Given the description of an element on the screen output the (x, y) to click on. 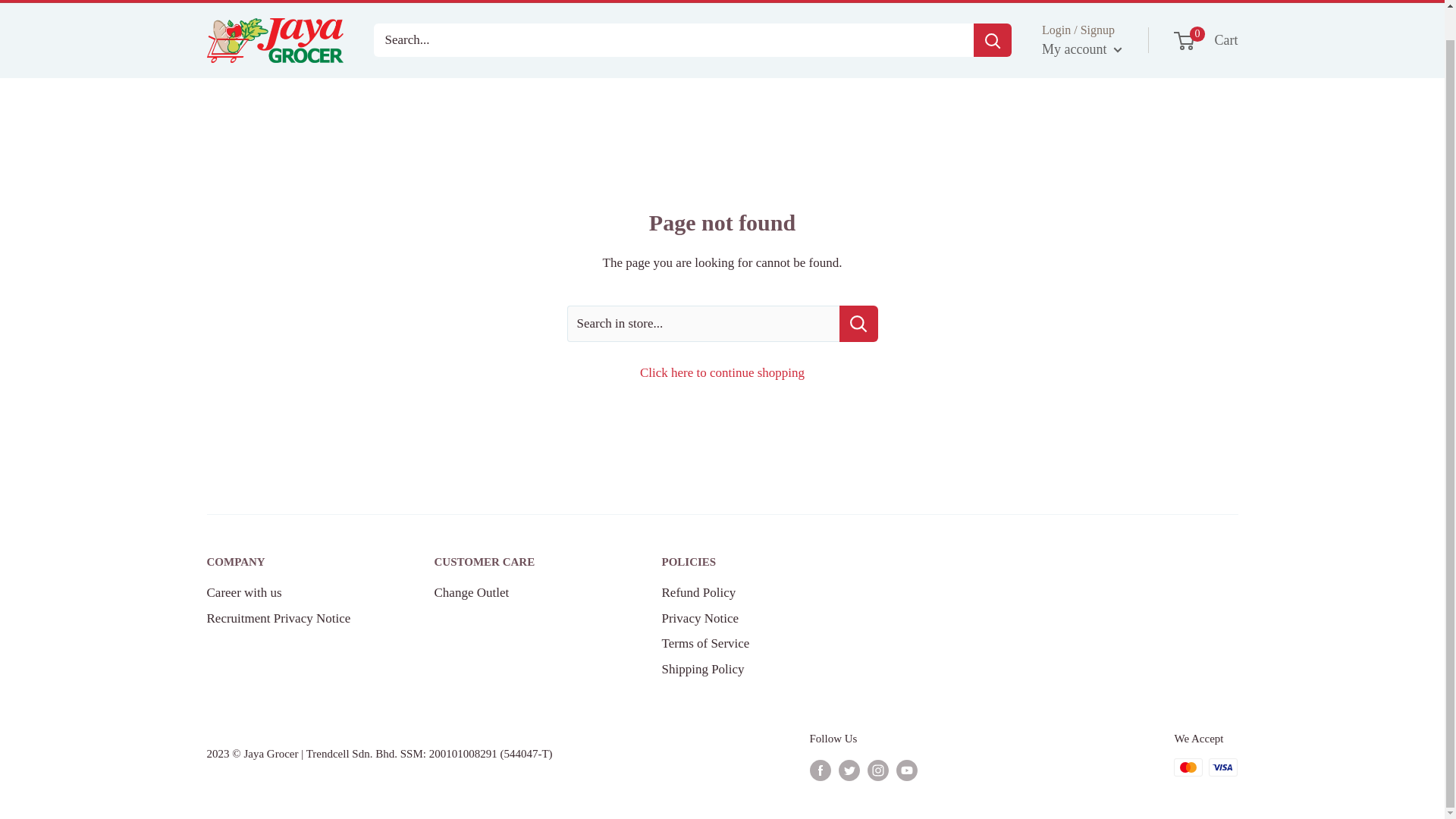
CUSTOMER CARE (520, 562)
COMPANY (293, 562)
Privacy Notice (748, 618)
My account (1082, 49)
Change Outlet (520, 592)
Terms of Service (748, 643)
Click here to continue shopping (722, 372)
Career with us (293, 592)
Shipping Policy (1206, 40)
Recruitment Privacy Notice (748, 669)
POLICIES (293, 618)
Refund Policy (748, 562)
